Given the description of an element on the screen output the (x, y) to click on. 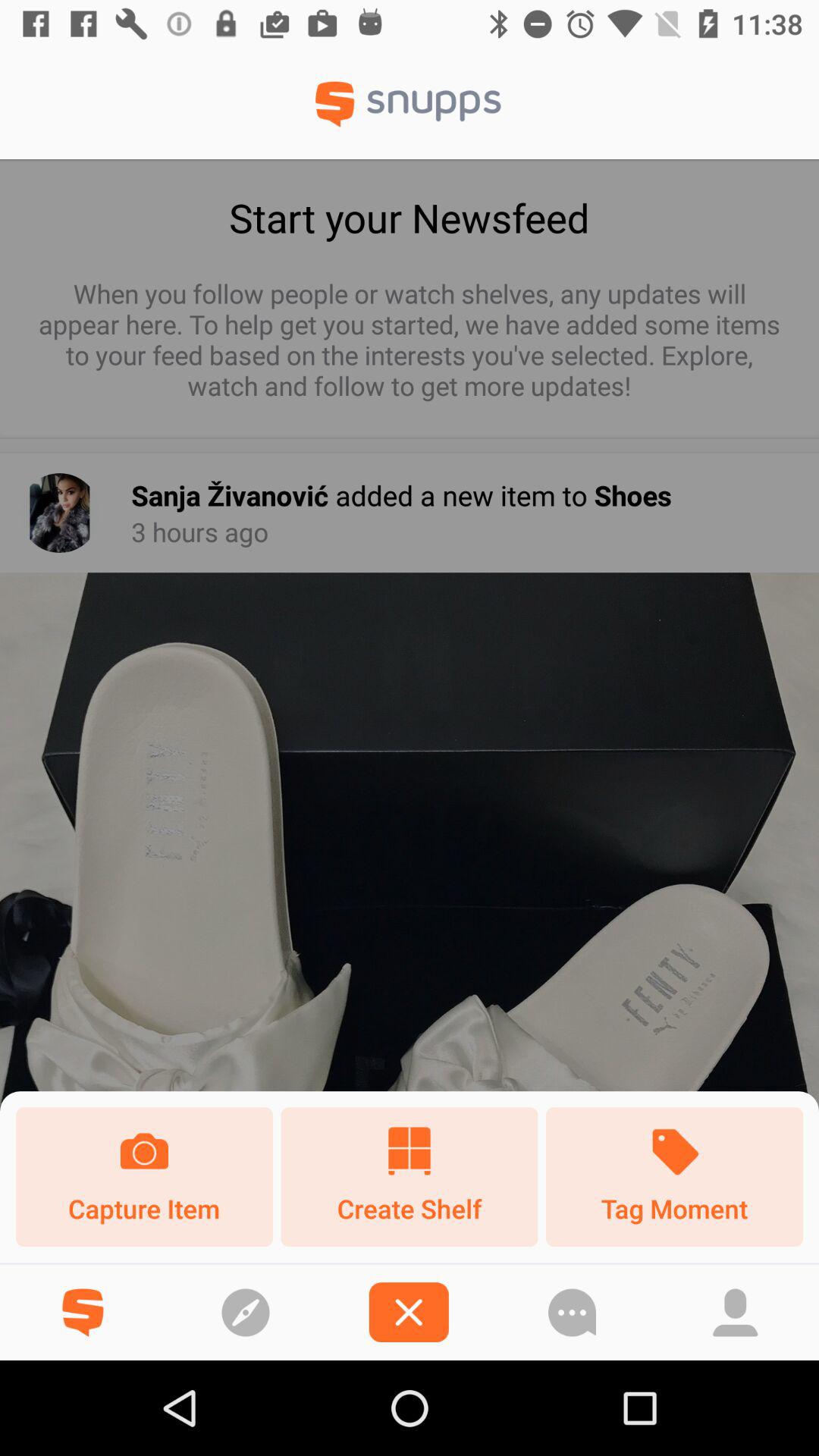
close page (408, 1312)
